Given the description of an element on the screen output the (x, y) to click on. 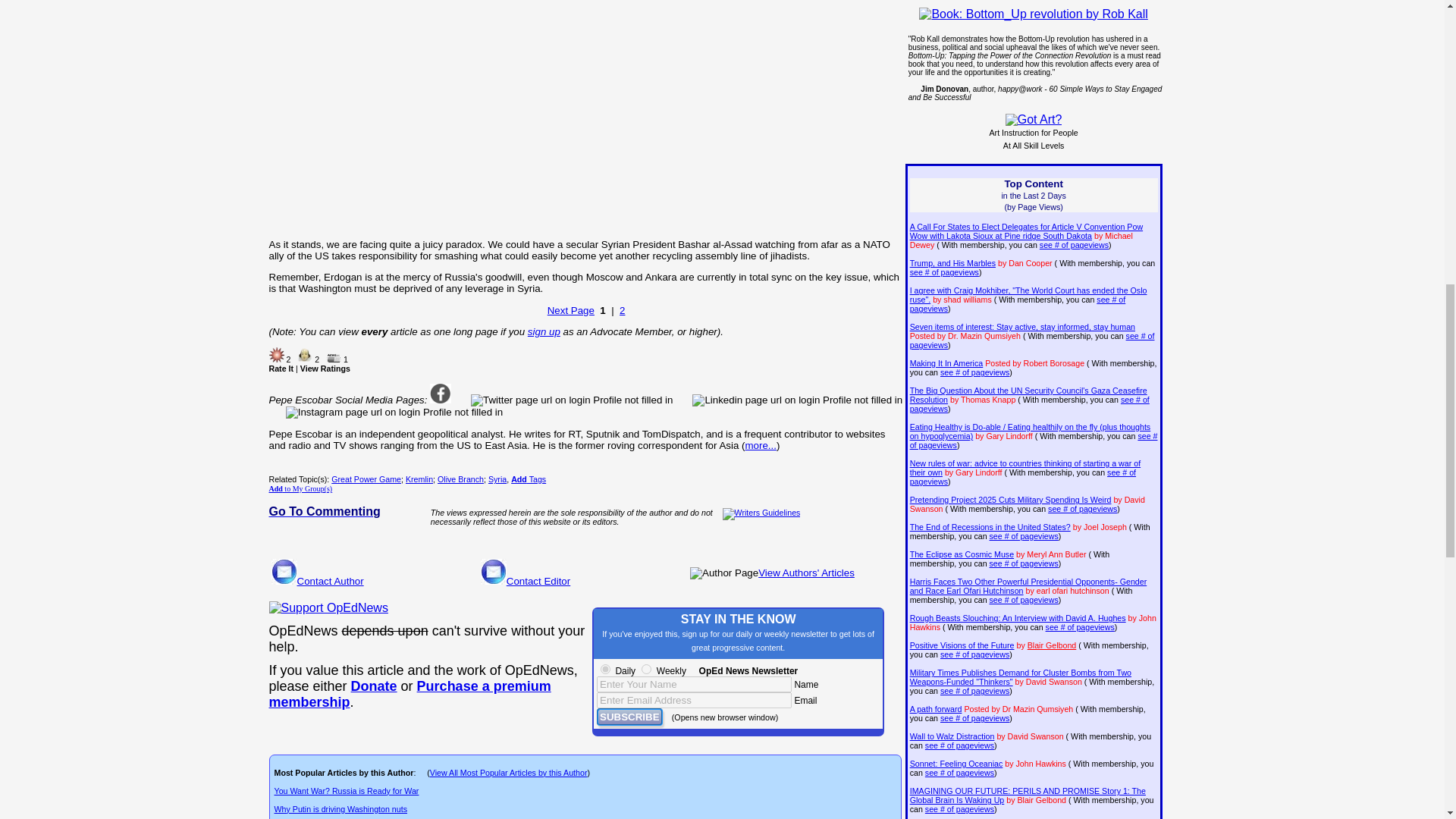
Kremlin (419, 479)
Enter Email Address (694, 700)
-- (373, 685)
Support OpEdNews (327, 608)
more... (760, 445)
SUBSCRIBE (629, 716)
Weekly (646, 669)
News (333, 357)
Twitter page url on login Profile not filled in (571, 399)
Great Power Game (366, 479)
